Given the description of an element on the screen output the (x, y) to click on. 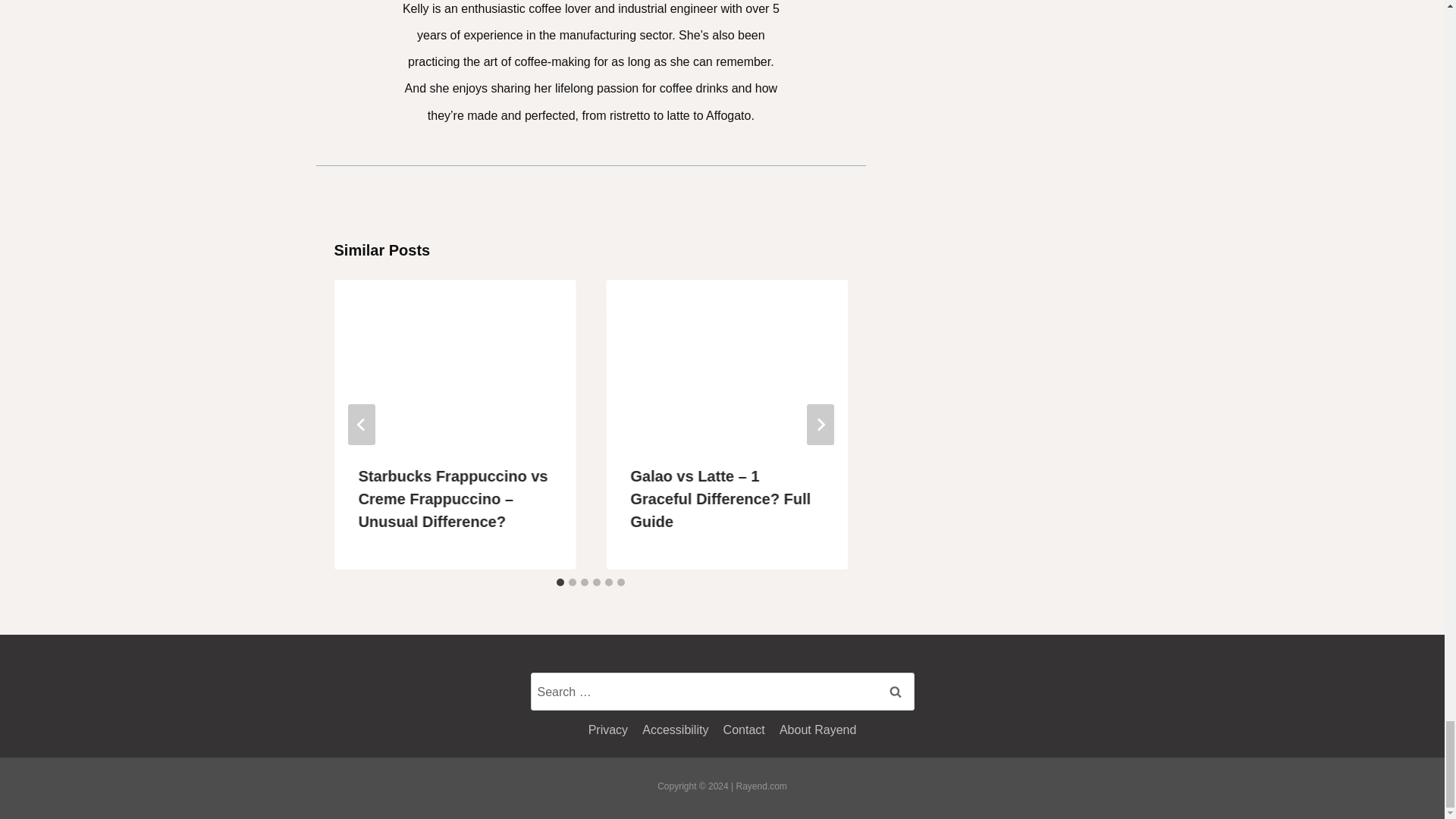
Search (895, 691)
Search (895, 691)
